Given the description of an element on the screen output the (x, y) to click on. 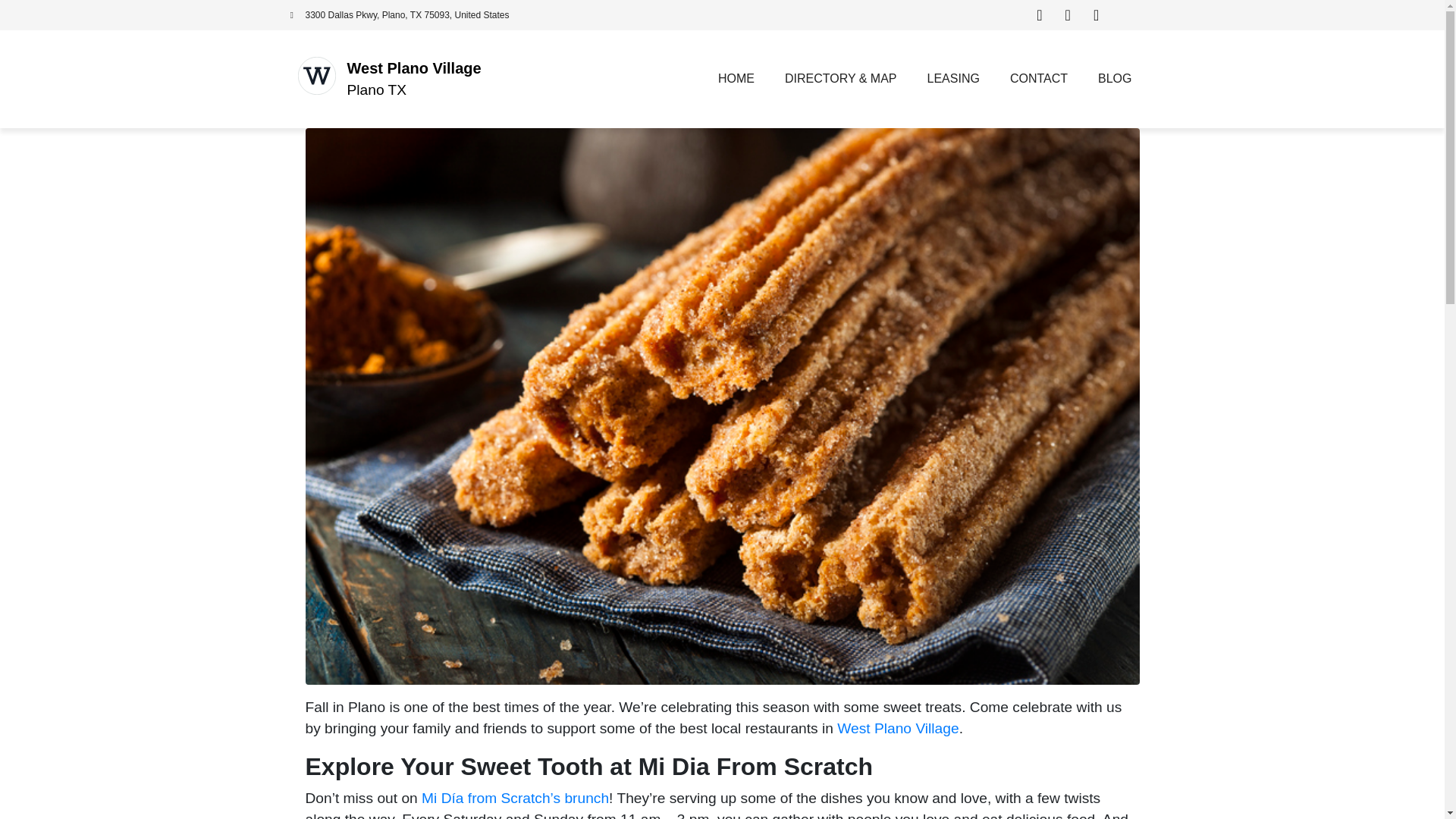
LEASING (953, 78)
West Plano Village (414, 67)
HOME (736, 78)
West Plano Village (897, 728)
CONTACT (1038, 78)
BLOG (1115, 78)
